Given the description of an element on the screen output the (x, y) to click on. 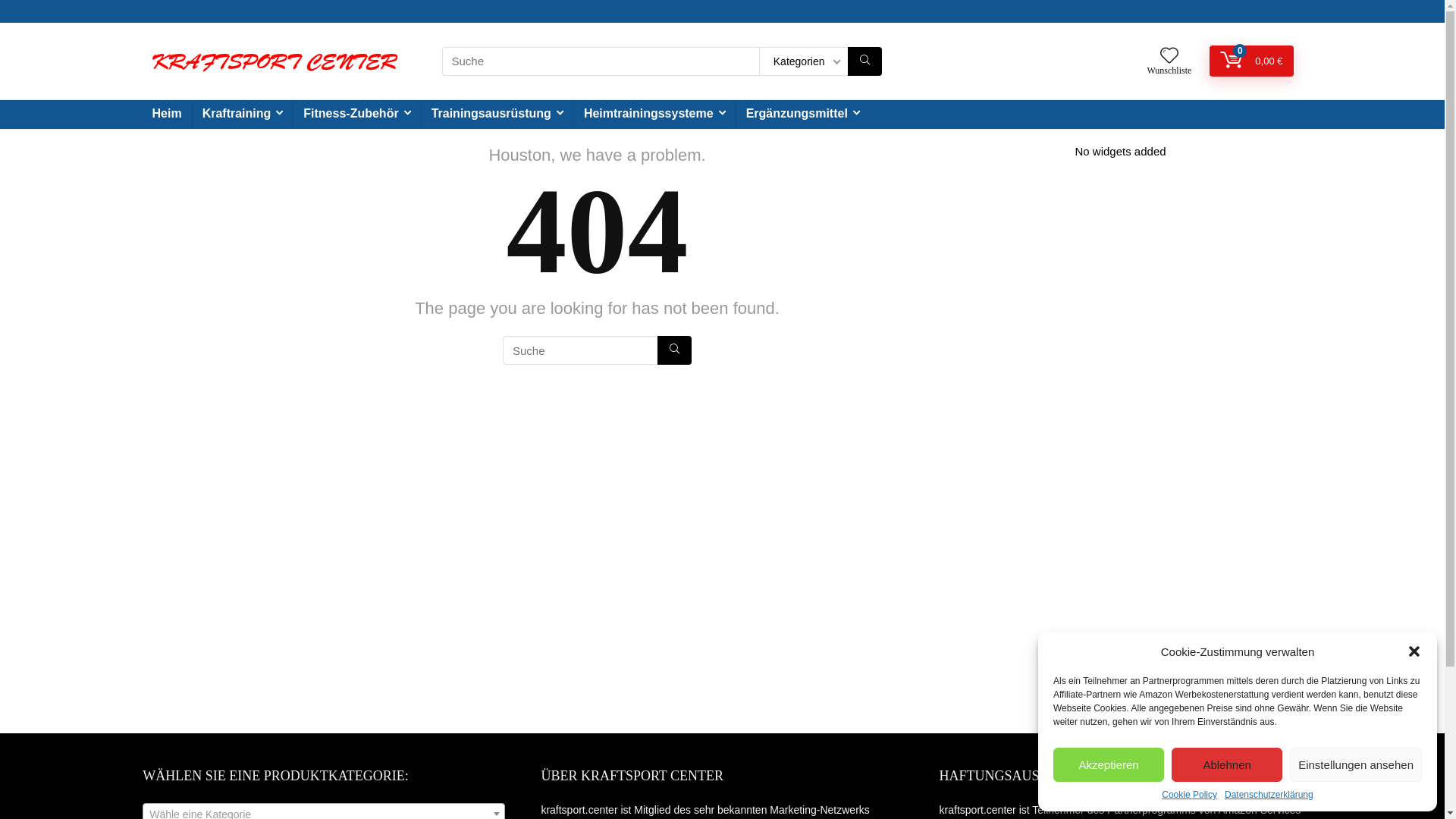
Akzeptieren Element type: text (1108, 764)
Kraftraining Element type: text (242, 114)
Heimtrainingssysteme Element type: text (654, 114)
Heim Element type: text (166, 114)
Ablehnen Element type: text (1226, 764)
Cookie Policy Element type: text (1189, 794)
Einstellungen ansehen Element type: text (1355, 764)
